Given the description of an element on the screen output the (x, y) to click on. 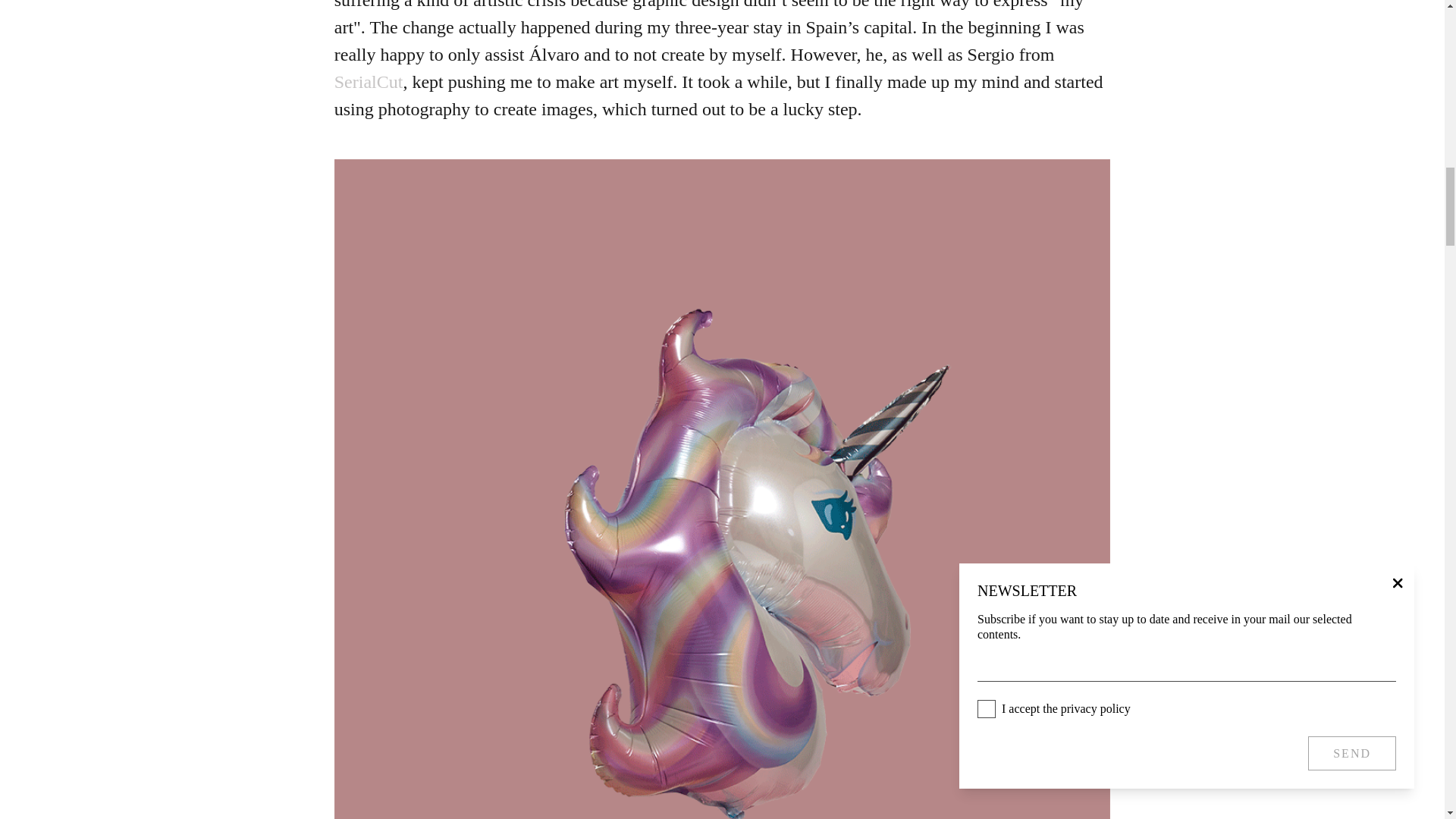
SerialCut (368, 81)
